Given the description of an element on the screen output the (x, y) to click on. 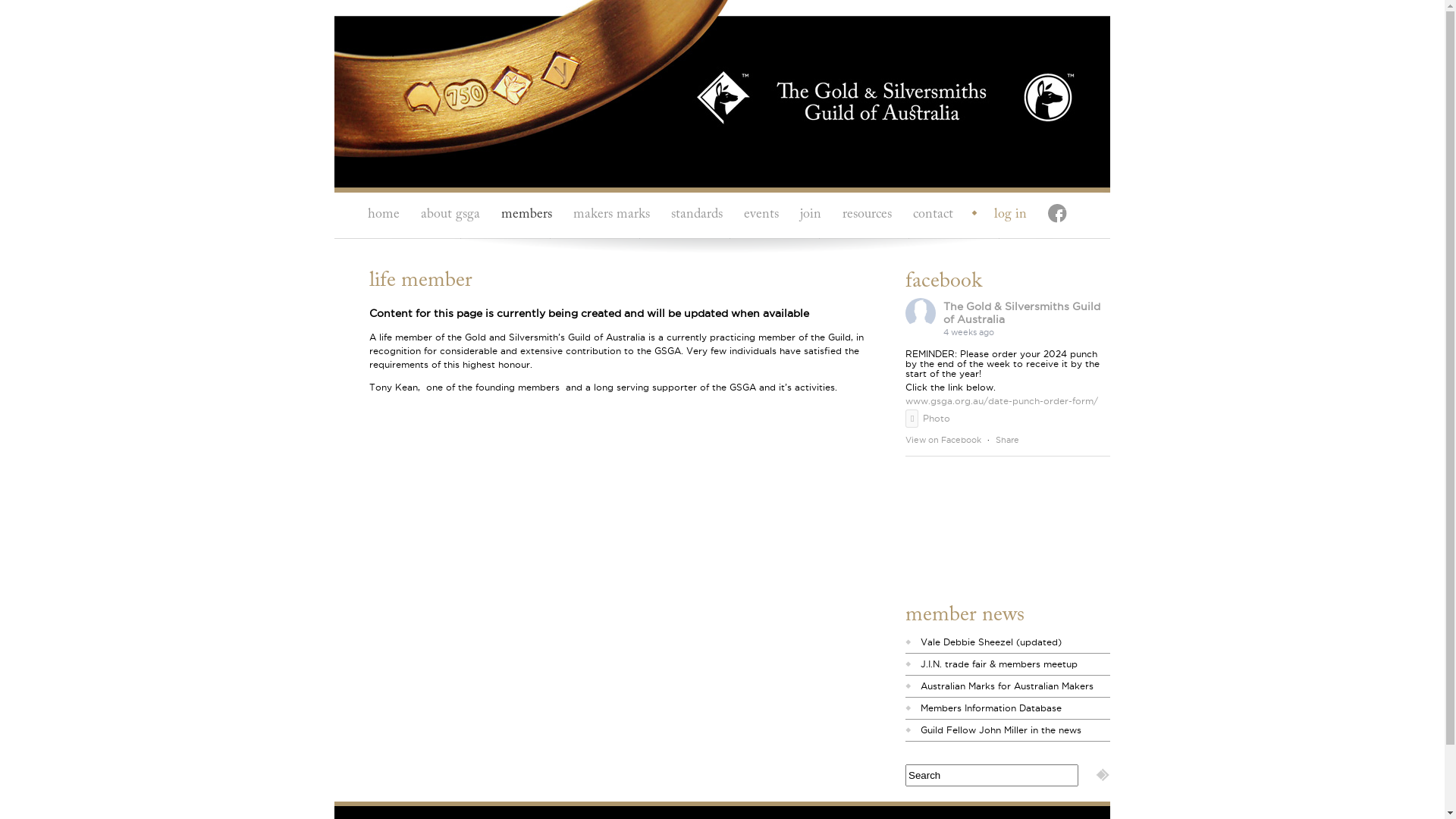
Australian Marks for Australian Makers Element type: text (1006, 685)
J.I.N. trade fair & members meetup Element type: text (998, 663)
View on Facebook Element type: text (943, 439)
members Element type: text (526, 215)
Search Element type: text (991, 775)
Members Information Database Element type: text (990, 707)
makers marks Element type: text (611, 215)
standards Element type: text (696, 215)
log in Element type: text (1002, 215)
facebook Element type: text (1054, 215)
contact Element type: text (932, 215)
resources Element type: text (866, 215)
The Gold & Silversmiths Guild of Australia Element type: text (1021, 312)
home Element type: text (383, 215)
about gsga Element type: text (450, 215)
Share Element type: text (1007, 439)
events Element type: text (761, 215)
Vale Debbie Sheezel (updated) Element type: text (990, 641)
Photo Element type: text (927, 418)
Search Element type: text (1102, 774)
Guild Fellow John Miller in the news Element type: text (1000, 729)
join Element type: text (810, 215)
www.gsga.org.au/date-punch-order-form/ Element type: text (1001, 400)
